Given the description of an element on the screen output the (x, y) to click on. 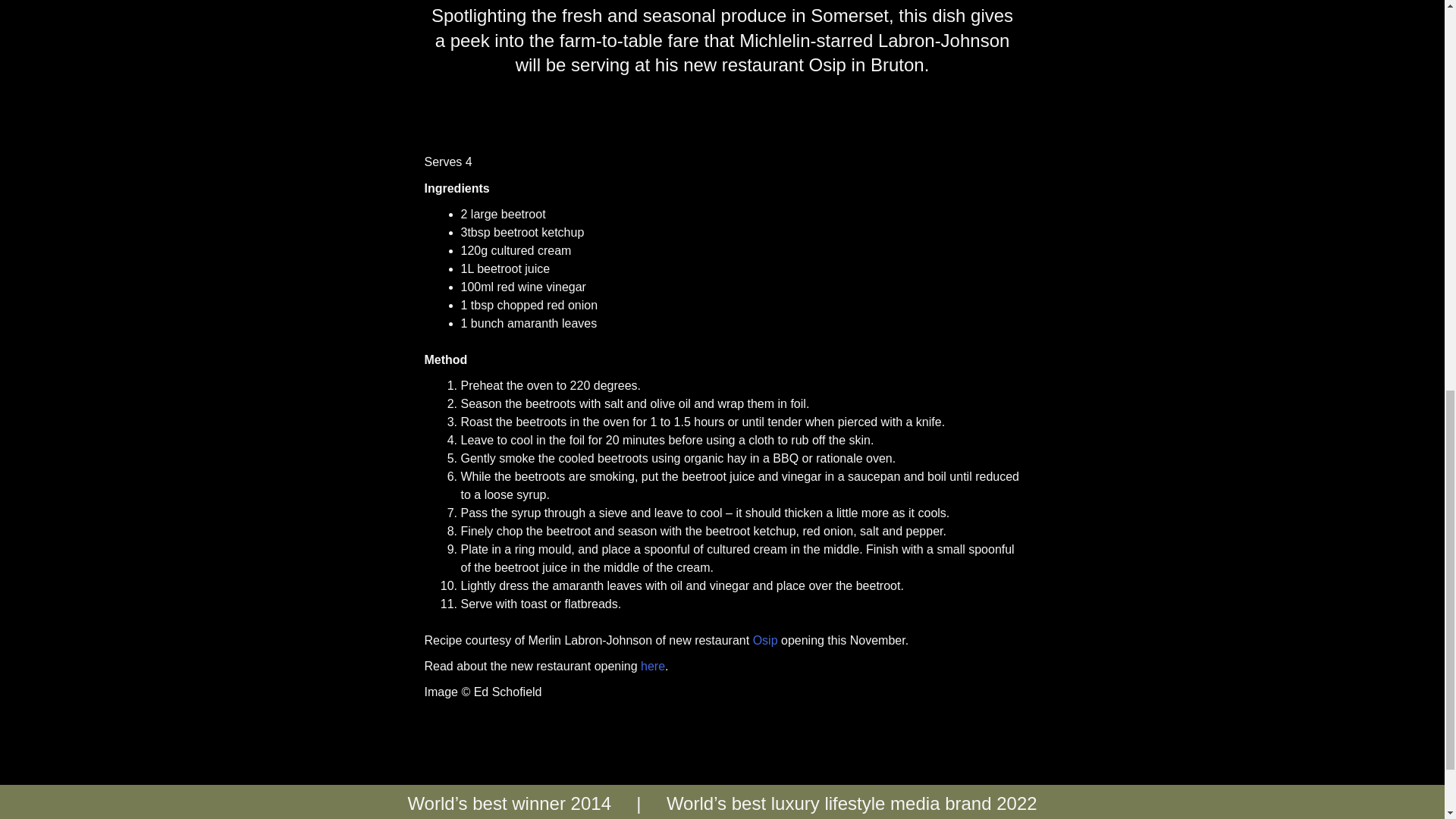
here (652, 666)
Osip (764, 640)
